Given the description of an element on the screen output the (x, y) to click on. 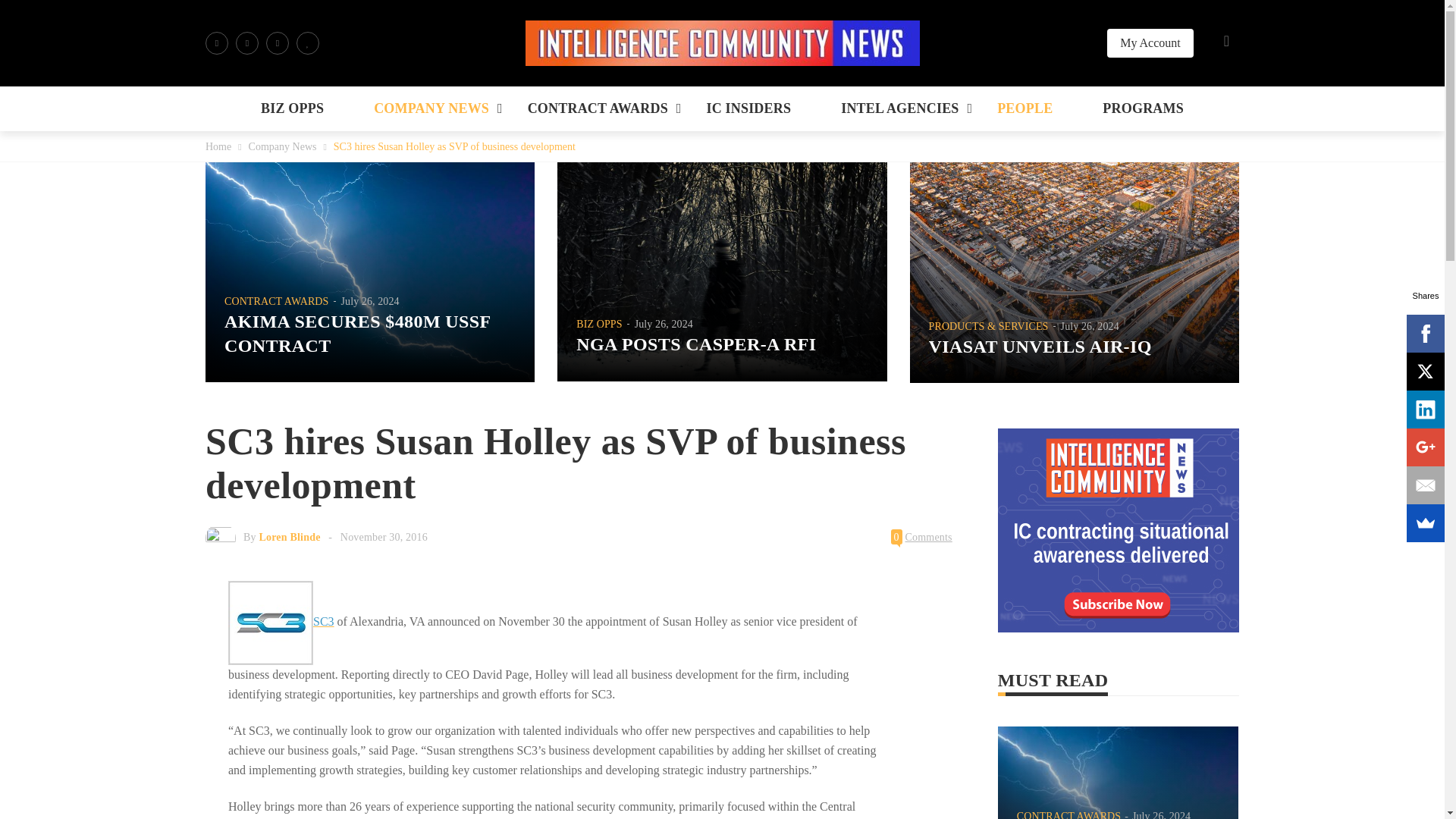
BIZ OPPS (292, 108)
My Account (1149, 42)
PEOPLE (1024, 108)
Company News (282, 146)
Home (218, 146)
Home (218, 146)
COMPANY NEWS (431, 108)
CONTRACT AWARDS (597, 108)
INTEL AGENCIES (899, 108)
Company News (282, 146)
IC INSIDERS (748, 108)
PROGRAMS (1142, 108)
Posts by Loren Blinde (289, 536)
